Given the description of an element on the screen output the (x, y) to click on. 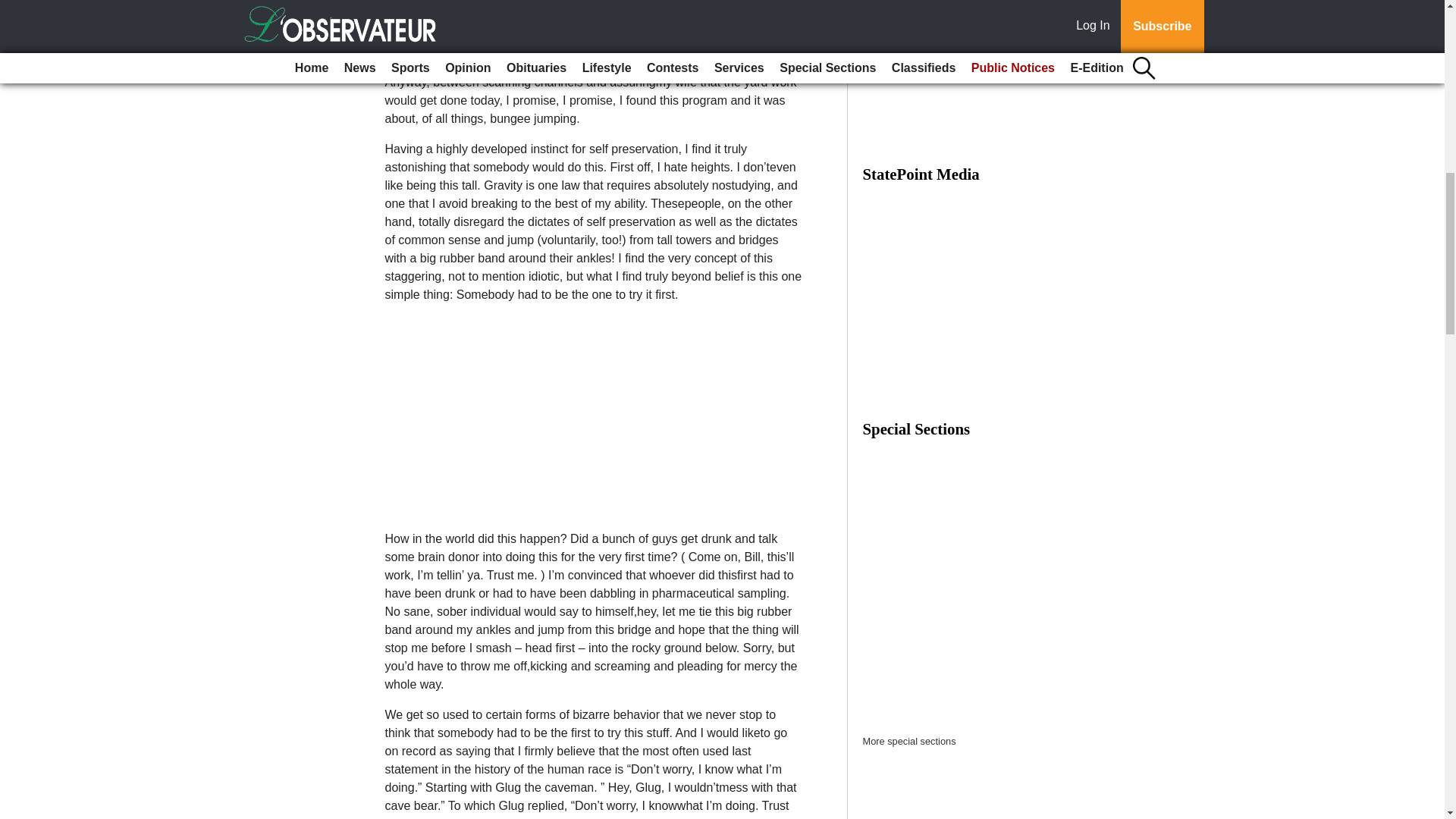
More special sections (909, 740)
